Given the description of an element on the screen output the (x, y) to click on. 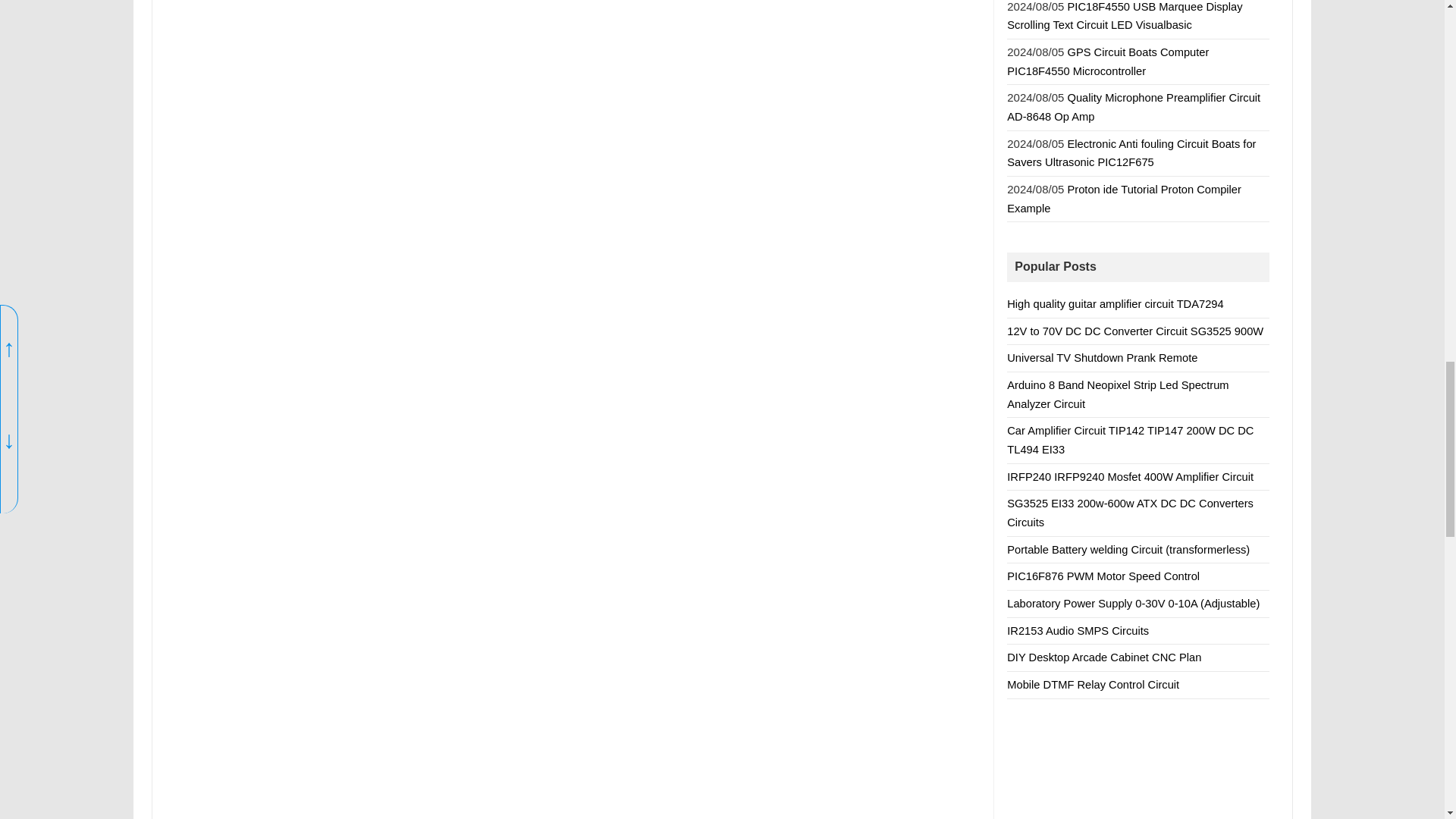
Quality Microphone Preamplifier Circuit AD-8648 Op Amp (1133, 106)
Proton ide Tutorial Proton Compiler Example (1124, 198)
GPS Circuit Boats Computer PIC18F4550 Microcontroller (1107, 60)
